Given the description of an element on the screen output the (x, y) to click on. 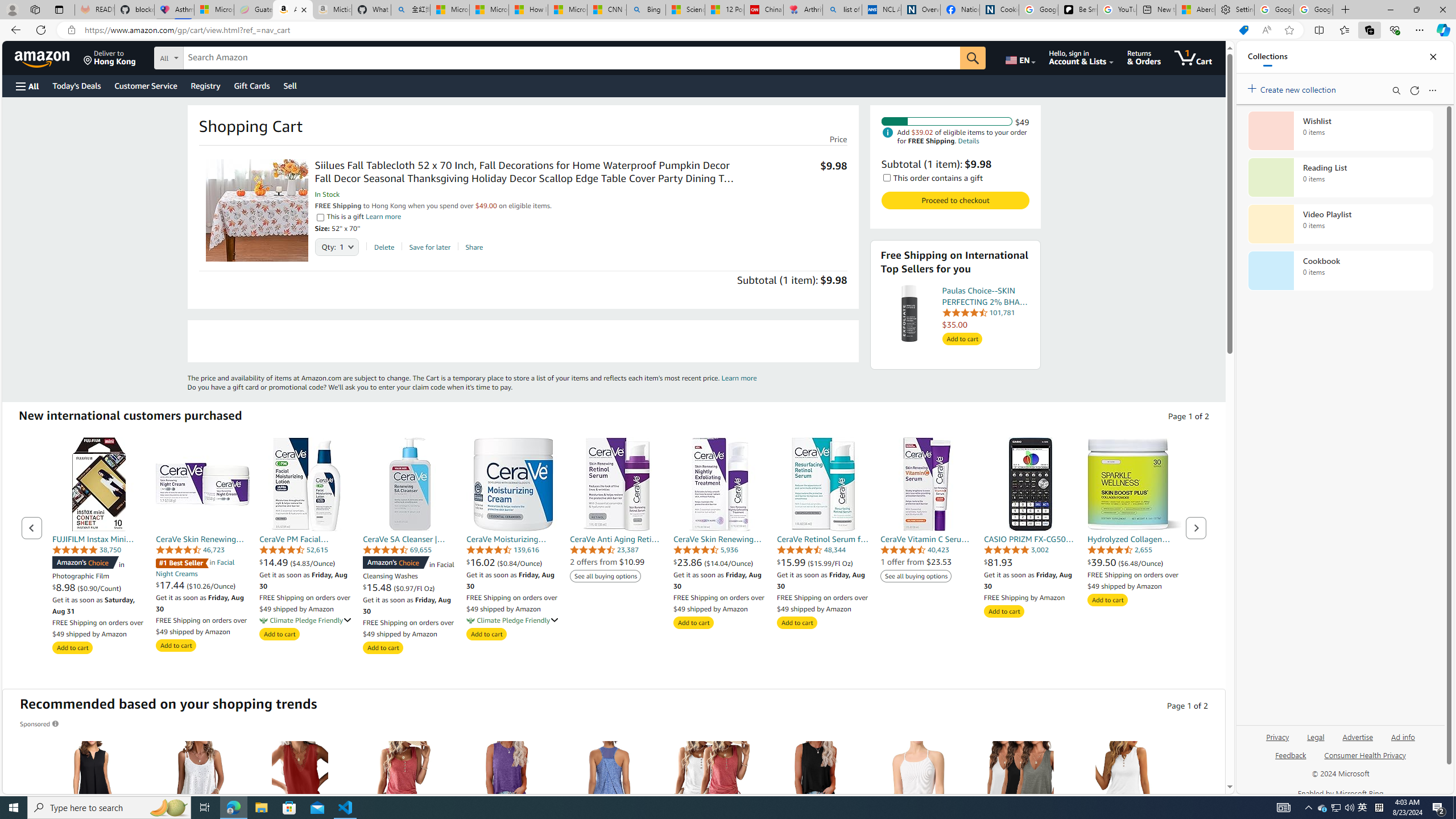
$14.49  (275, 562)
$39.50  (1102, 562)
Climate Pledge Friendly (469, 619)
($6.48/Ounce) (1140, 562)
Arthritis: Ask Health Professionals (802, 9)
